Given the description of an element on the screen output the (x, y) to click on. 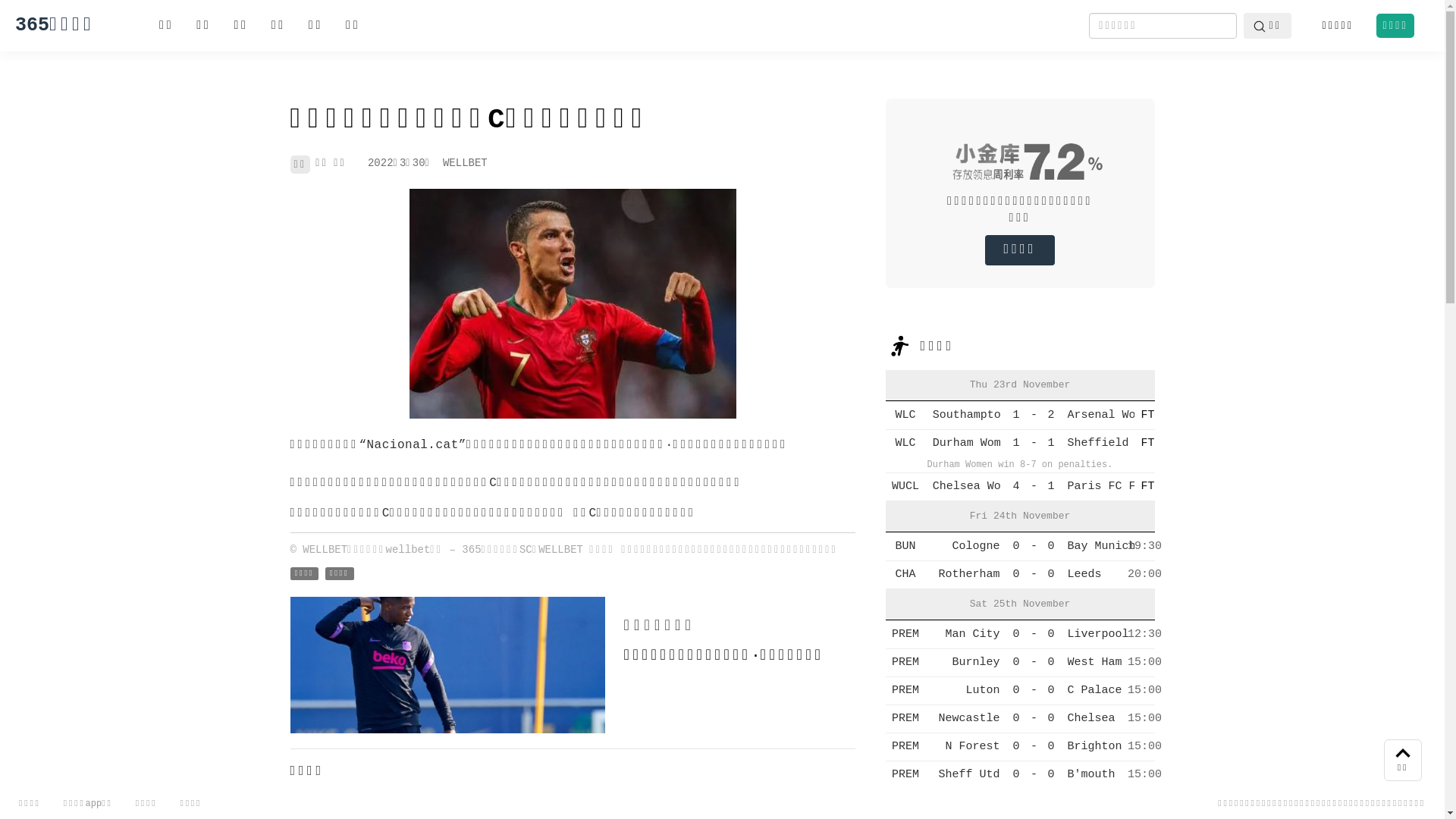
WELLBET Element type: text (464, 162)
